Given the description of an element on the screen output the (x, y) to click on. 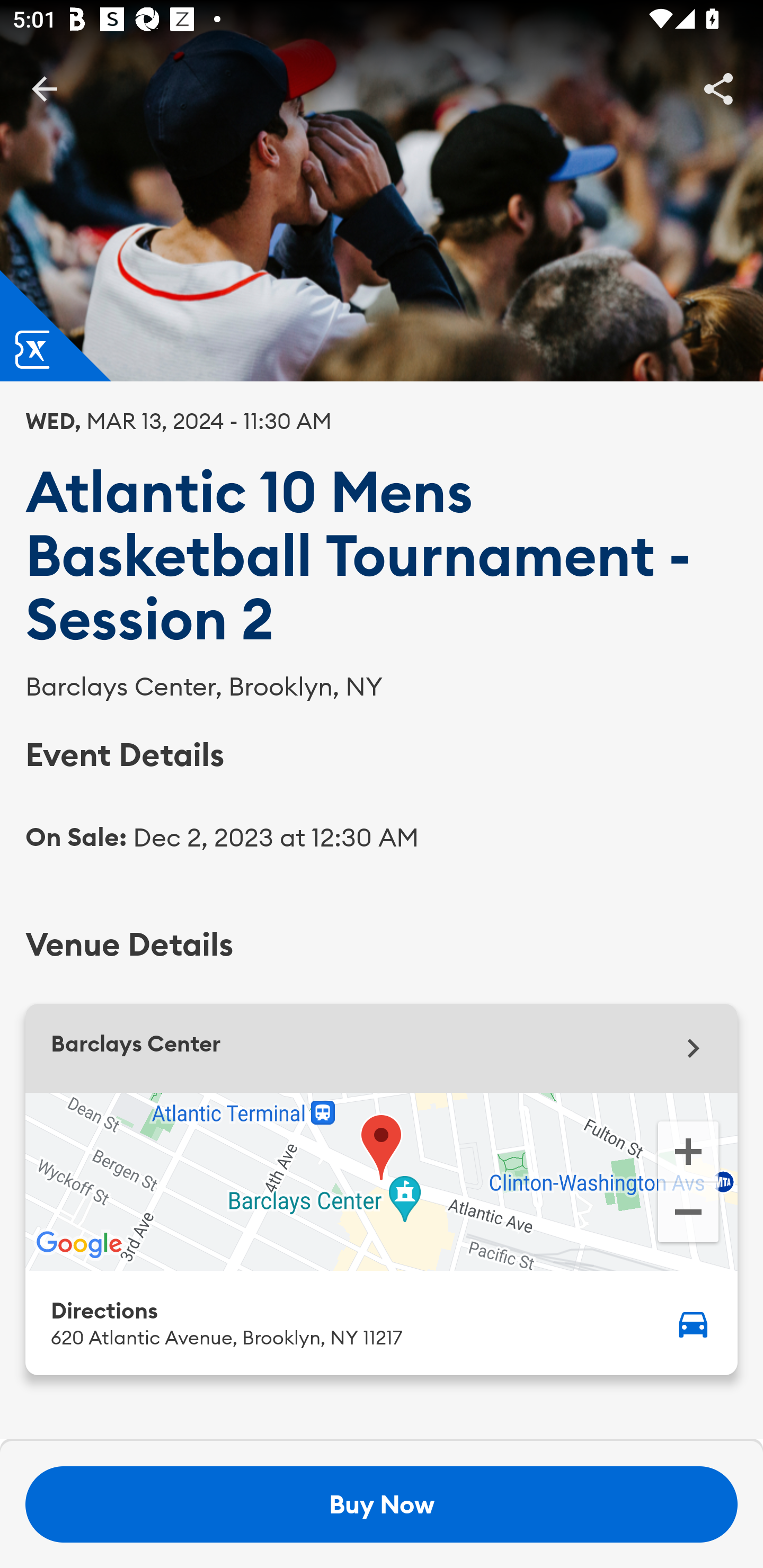
BackButton (44, 88)
Share (718, 88)
Barclays Center (381, 1047)
Google Map Barclays Center.  Zoom in Zoom out (381, 1181)
Zoom in (687, 1149)
Zoom out (687, 1214)
Directions 620 Atlantic Avenue, Brooklyn, NY 11217 (381, 1322)
Buy Now (381, 1504)
